Given the description of an element on the screen output the (x, y) to click on. 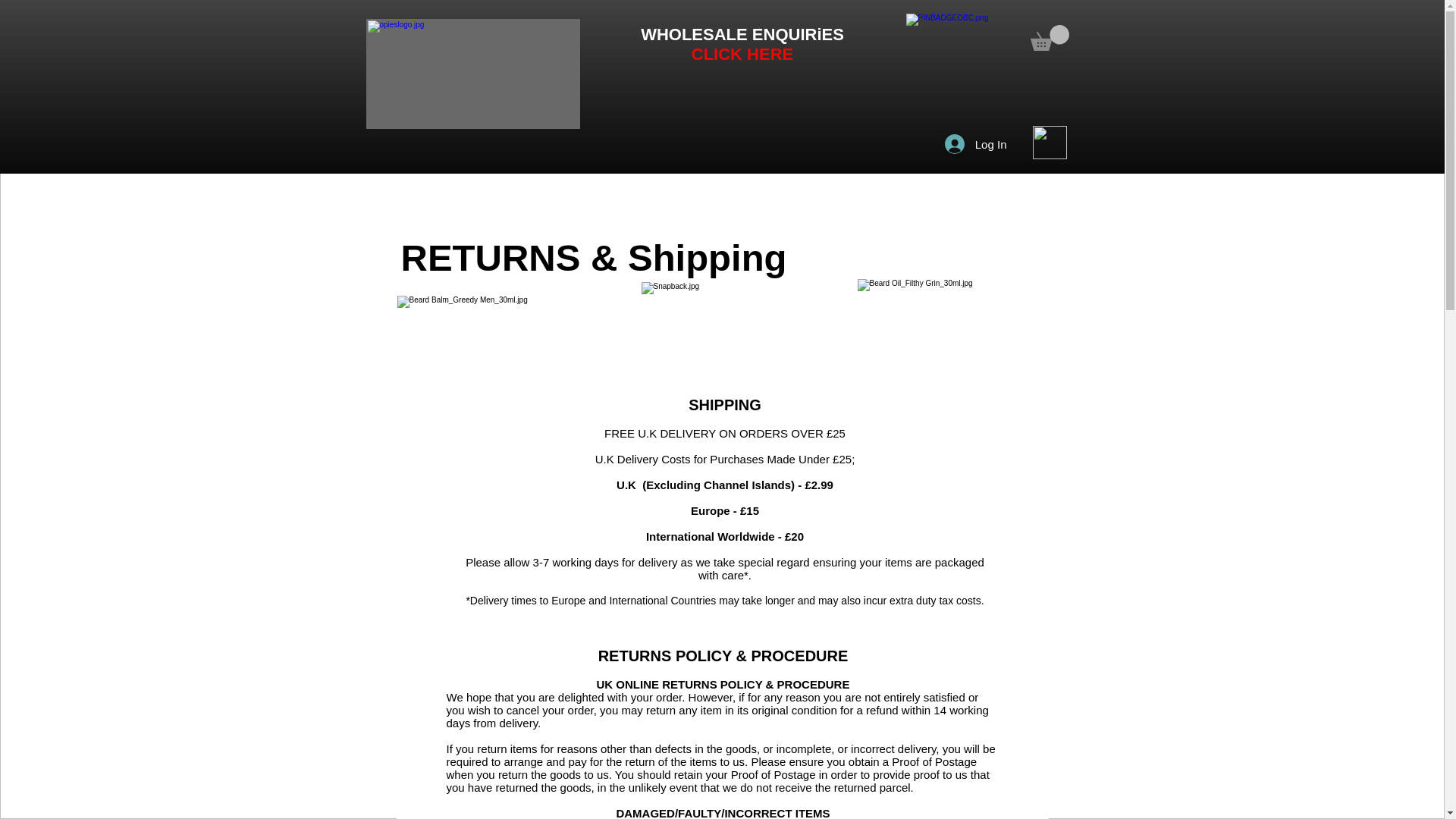
CLICK HERE (742, 54)
Log In (975, 143)
Home (380, 185)
